Given the description of an element on the screen output the (x, y) to click on. 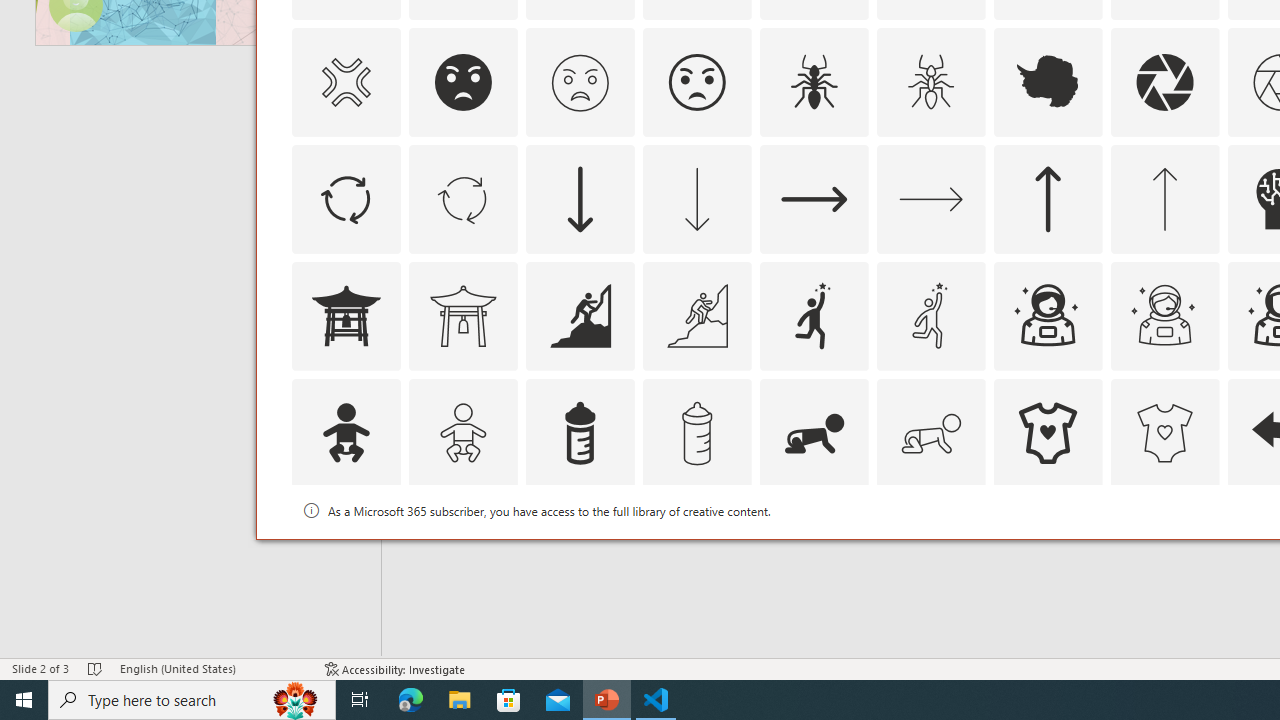
AutomationID: Icons_ArrowDown (579, 198)
AutomationID: Icons_Badge4_M (1048, 550)
AutomationID: Icons_Badge2 (463, 550)
AutomationID: Icons_AsianTemple1_M (463, 316)
AutomationID: Icons_BabyCrawling (813, 432)
AutomationID: Icons_BabyBottle_M (696, 432)
AutomationID: Icons_Badge5 (1164, 550)
AutomationID: Icons_Baby (345, 432)
